Given the description of an element on the screen output the (x, y) to click on. 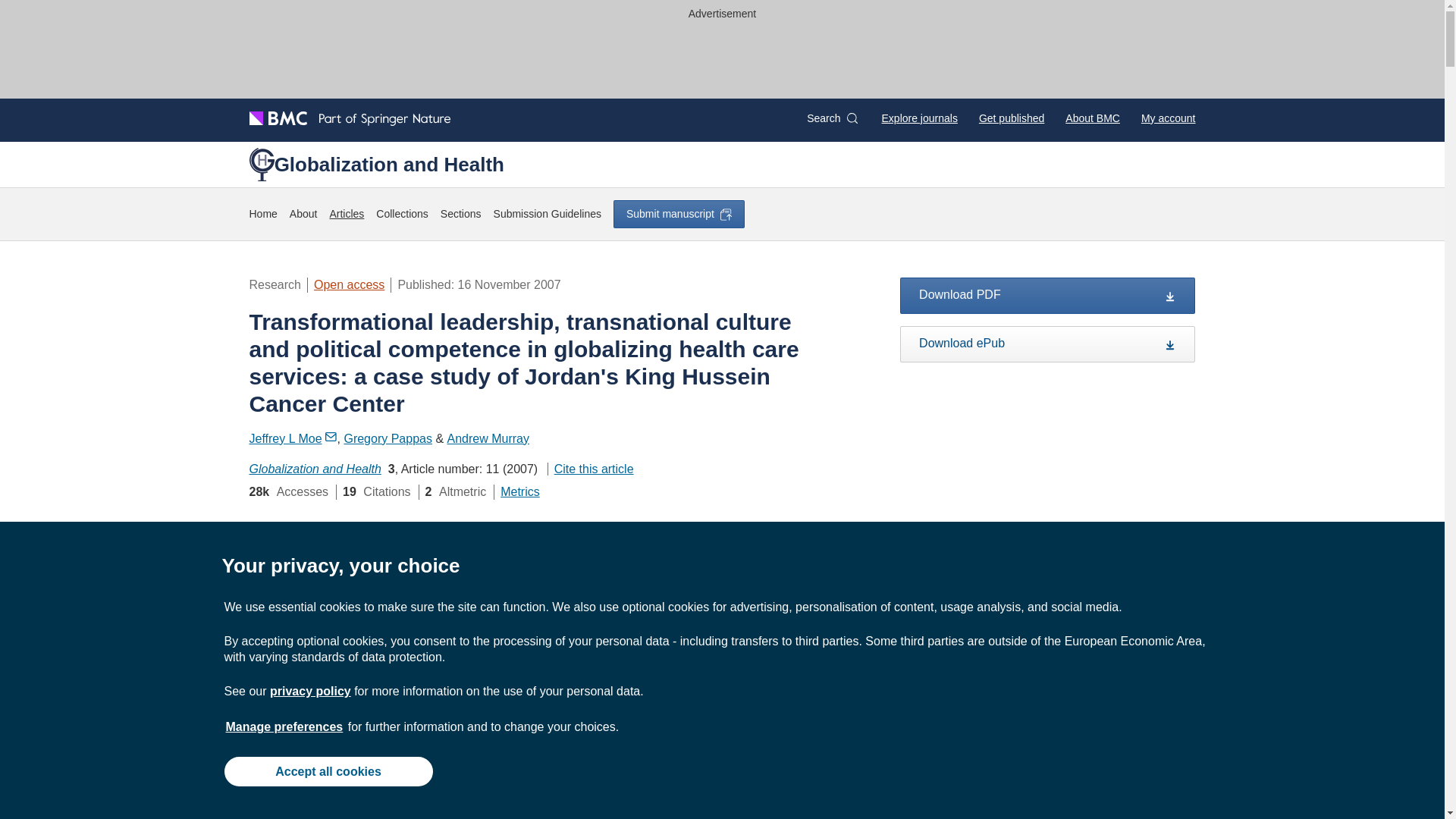
My account (1168, 118)
Jeffrey L Moe (292, 438)
Home (262, 213)
Metrics (520, 491)
About (303, 213)
privacy policy (309, 690)
Manage preferences (284, 726)
Get published (1010, 118)
Open access (349, 284)
Globalization and Health (314, 468)
Andrew Murray (487, 438)
Submit manuscript (678, 213)
Submission Guidelines (547, 213)
Gregory Pappas (387, 438)
Cite this article (590, 468)
